Given the description of an element on the screen output the (x, y) to click on. 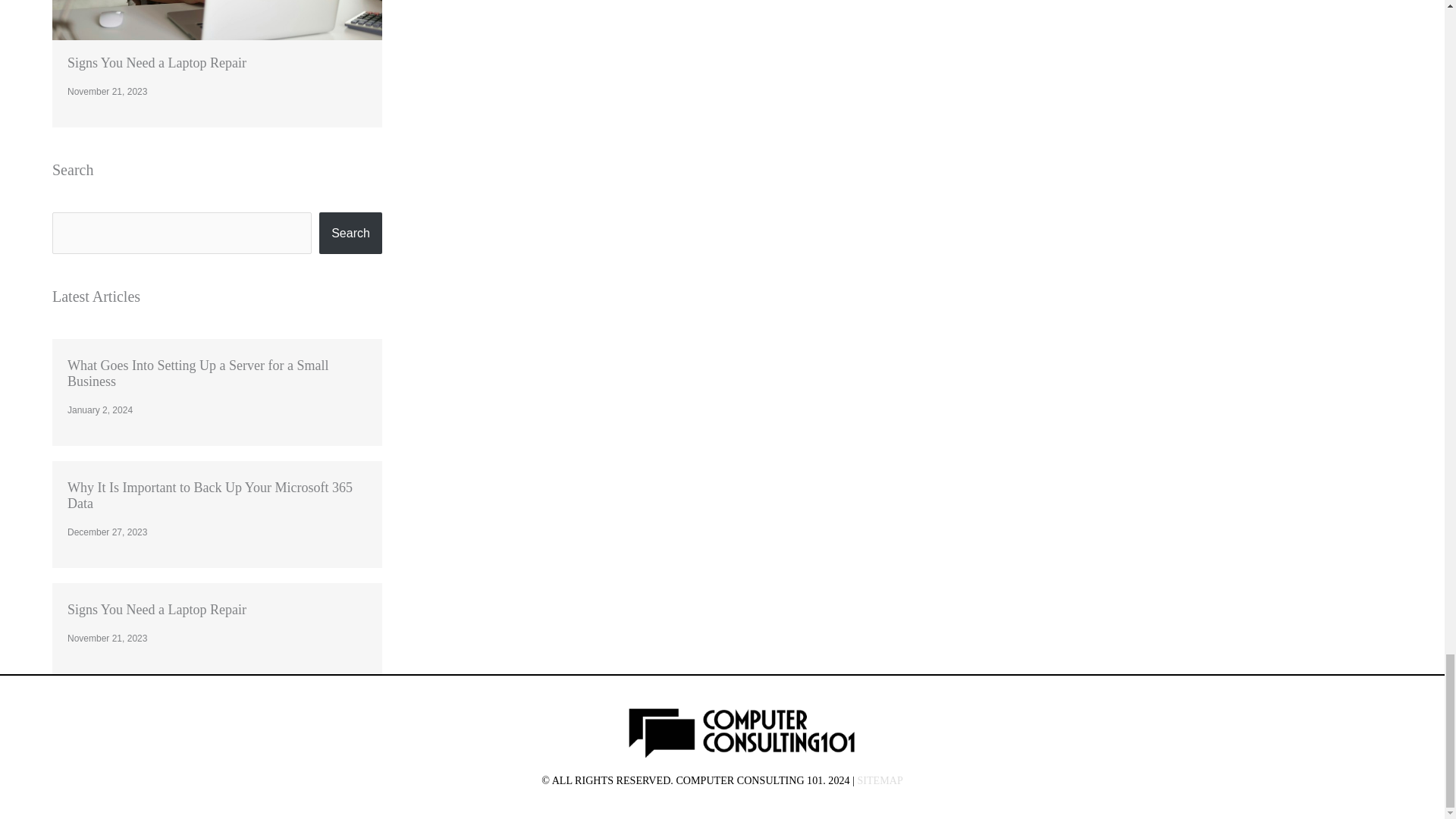
SITEMAP (879, 779)
Signs You Need a Laptop Repair (156, 62)
Signs You Need a Laptop Repair (156, 609)
Why It Is Important to Back Up Your Microsoft 365 Data (209, 495)
What Goes Into Setting Up a Server for a Small Business (197, 373)
Search (349, 232)
